Given the description of an element on the screen output the (x, y) to click on. 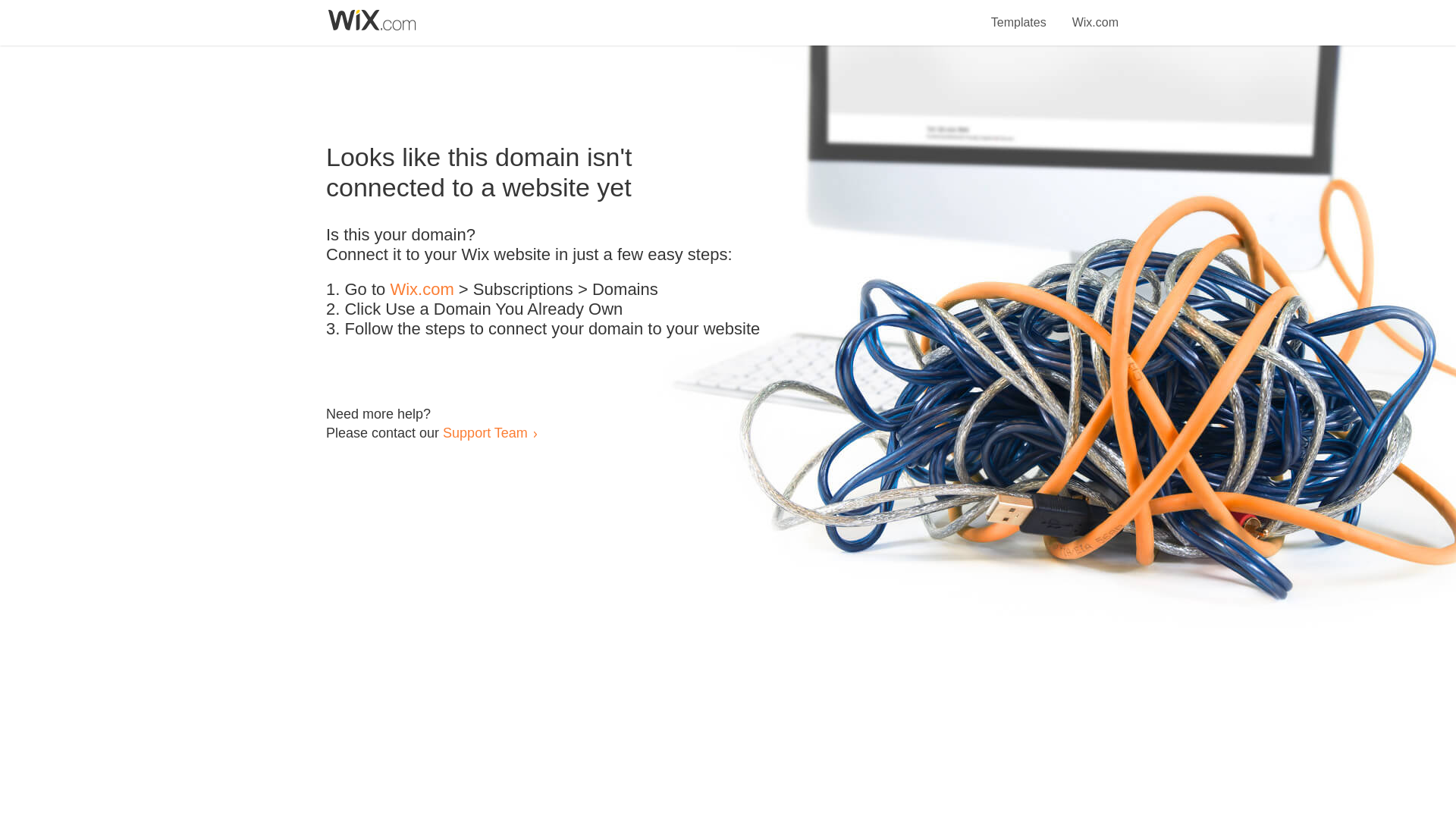
Wix.com (1095, 14)
Templates (1018, 14)
Support Team (484, 432)
Wix.com (421, 289)
